Given the description of an element on the screen output the (x, y) to click on. 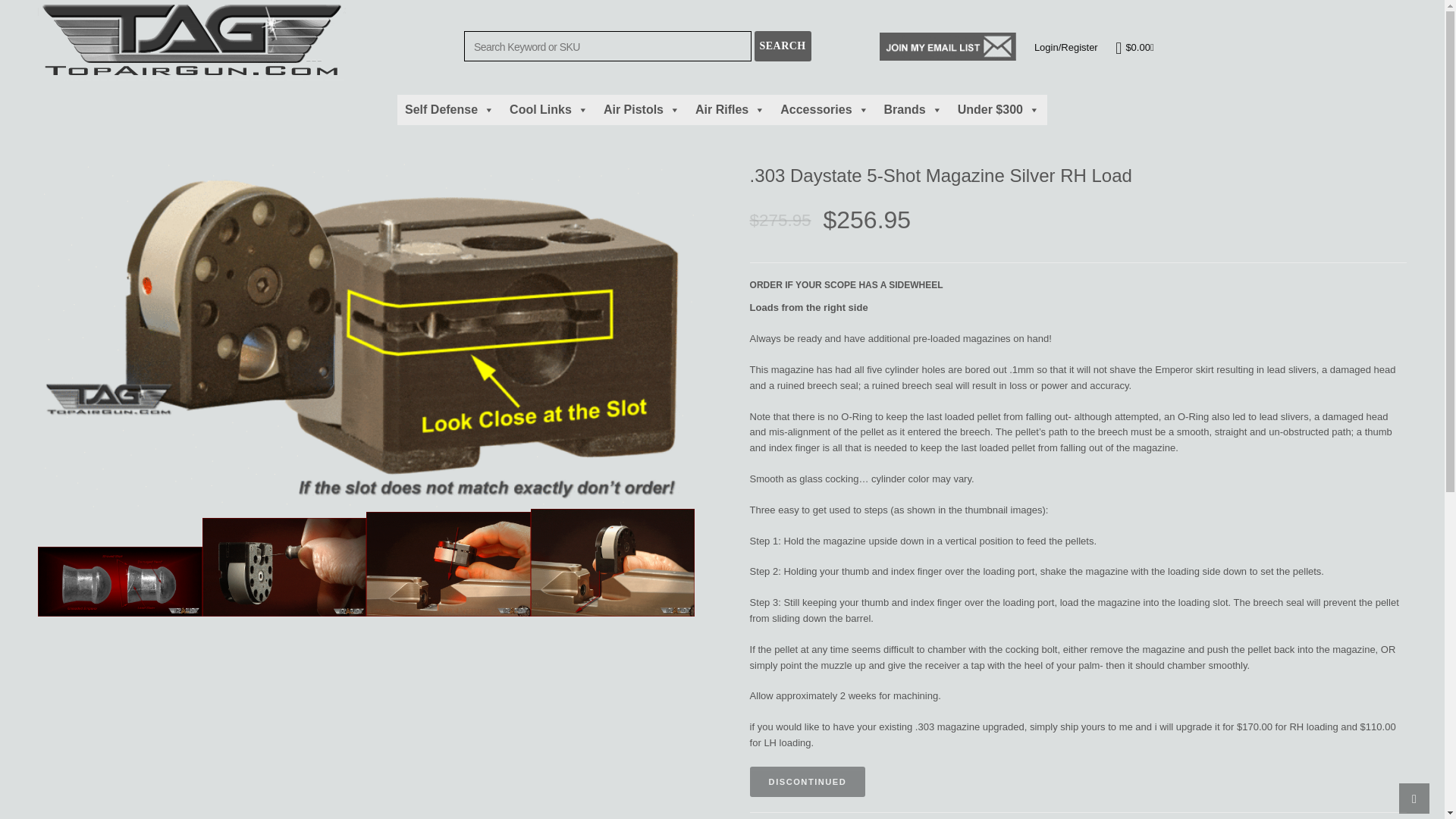
loading-303-magazine-in-breech (613, 562)
setting-the-303-pellets (448, 563)
loading-303-magazine (284, 566)
Search (782, 46)
shaved-pellet (119, 581)
